Given the description of an element on the screen output the (x, y) to click on. 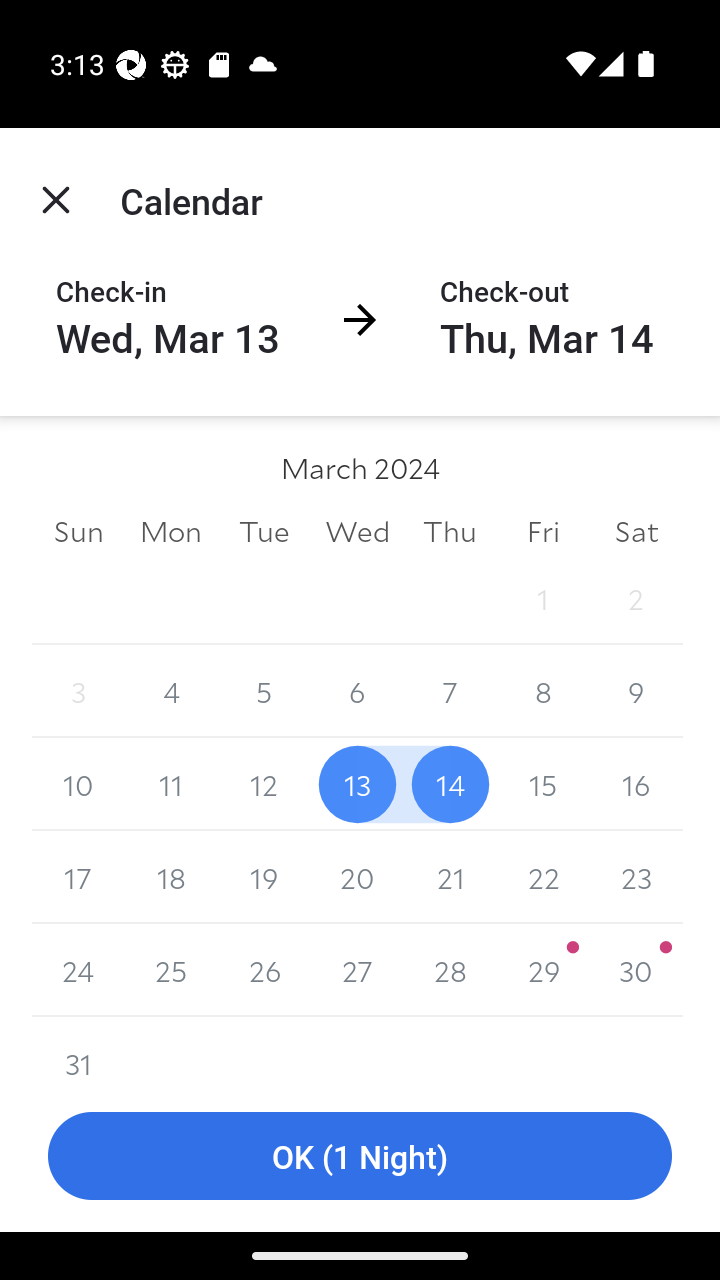
Sun (78, 530)
Mon (171, 530)
Tue (264, 530)
Wed (357, 530)
Thu (449, 530)
Fri (542, 530)
Sat (636, 530)
1 1 March 2024 (542, 598)
2 2 March 2024 (636, 598)
3 3 March 2024 (78, 691)
4 4 March 2024 (171, 691)
5 5 March 2024 (264, 691)
6 6 March 2024 (357, 691)
7 7 March 2024 (449, 691)
8 8 March 2024 (542, 691)
9 9 March 2024 (636, 691)
10 10 March 2024 (78, 784)
11 11 March 2024 (171, 784)
12 12 March 2024 (264, 784)
13 13 March 2024 (357, 784)
14 14 March 2024 (449, 784)
15 15 March 2024 (542, 784)
16 16 March 2024 (636, 784)
17 17 March 2024 (78, 877)
18 18 March 2024 (171, 877)
19 19 March 2024 (264, 877)
20 20 March 2024 (357, 877)
21 21 March 2024 (449, 877)
22 22 March 2024 (542, 877)
23 23 March 2024 (636, 877)
24 24 March 2024 (78, 970)
25 25 March 2024 (171, 970)
26 26 March 2024 (264, 970)
27 27 March 2024 (357, 970)
28 28 March 2024 (449, 970)
29 29 March 2024 (542, 970)
30 30 March 2024 (636, 970)
31 31 March 2024 (78, 1048)
OK (1 Night) (359, 1156)
